Given the description of an element on the screen output the (x, y) to click on. 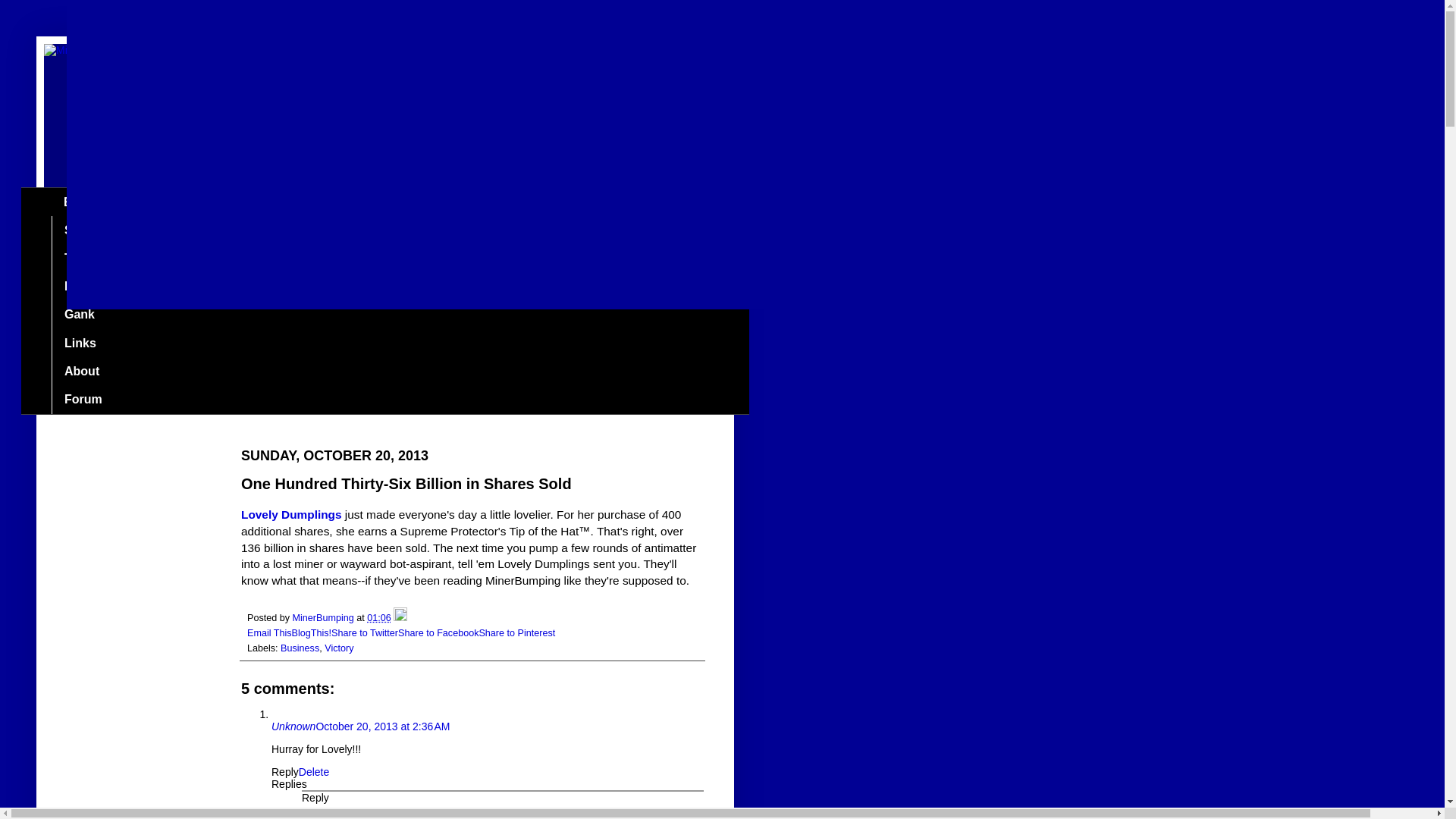
Become an Agent (114, 286)
Email This (269, 633)
Shareholders (102, 230)
Business (299, 647)
Email This (269, 633)
About (81, 370)
The Code (91, 257)
Share to Facebook (438, 633)
Share to Twitter (364, 633)
Gank (78, 315)
Delete (313, 771)
MinerBumping (324, 617)
Reply (284, 771)
Replies (288, 784)
Unknown (292, 726)
